Given the description of an element on the screen output the (x, y) to click on. 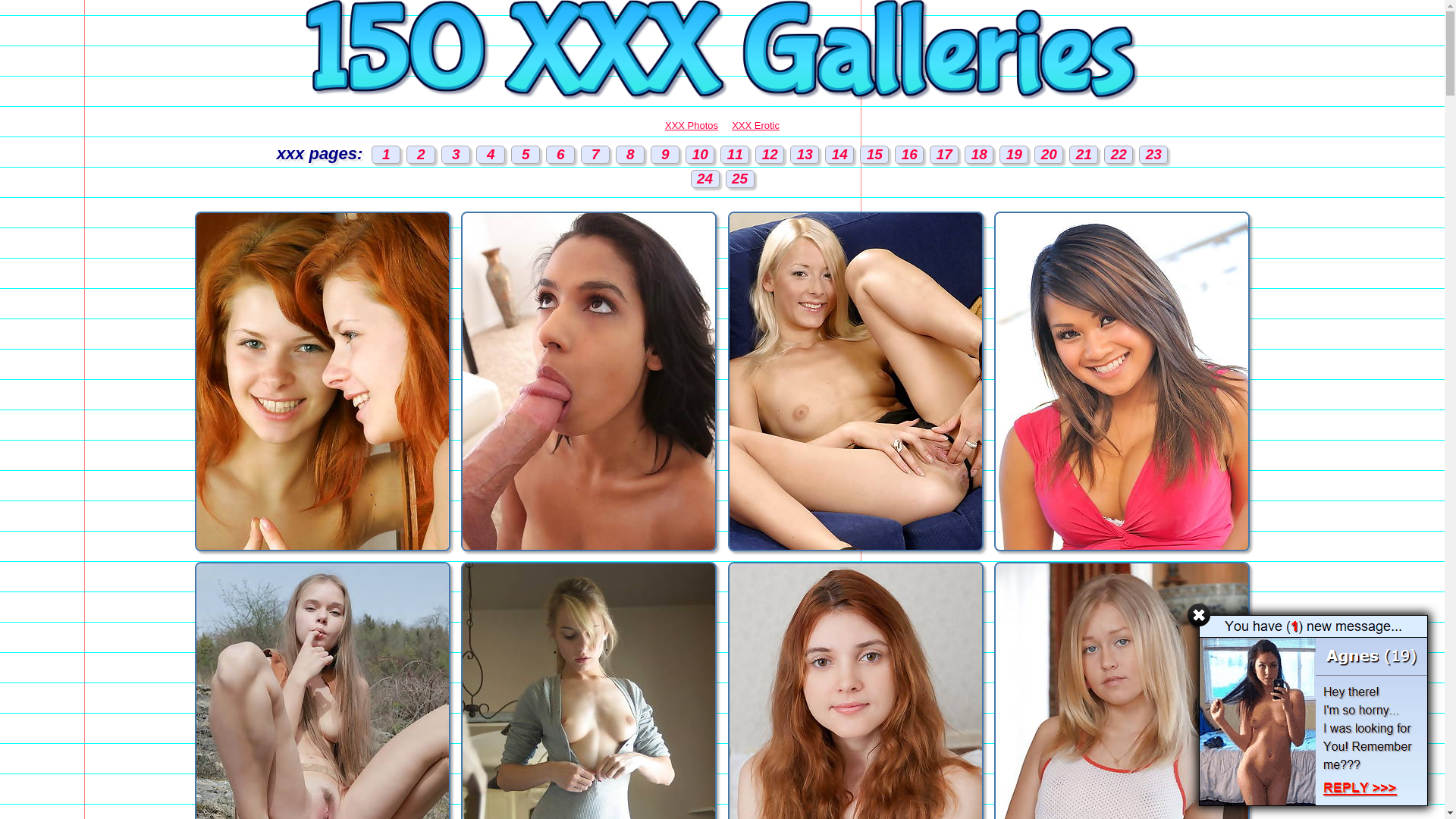
9 Element type: text (664, 154)
13 Element type: text (804, 154)
3 Element type: text (455, 154)
25 Element type: text (738, 178)
8 Element type: text (629, 154)
17 Element type: text (943, 154)
20 Element type: text (1048, 154)
16 Element type: text (908, 154)
12 Element type: text (769, 154)
10 Element type: text (699, 154)
15 Element type: text (873, 154)
6 Element type: text (560, 154)
XXX Photos Element type: text (691, 125)
21 Element type: text (1083, 154)
19 Element type: text (1013, 154)
18 Element type: text (978, 154)
2 Element type: text (420, 154)
23 Element type: text (1153, 154)
1 Element type: text (385, 154)
11 Element type: text (734, 154)
XXX Erotic Element type: text (755, 125)
4 Element type: text (490, 154)
14 Element type: text (839, 154)
24 Element type: text (704, 178)
# Element type: hover (1198, 614)
22 Element type: text (1118, 154)
7 Element type: text (594, 154)
5 Element type: text (525, 154)
